Given the description of an element on the screen output the (x, y) to click on. 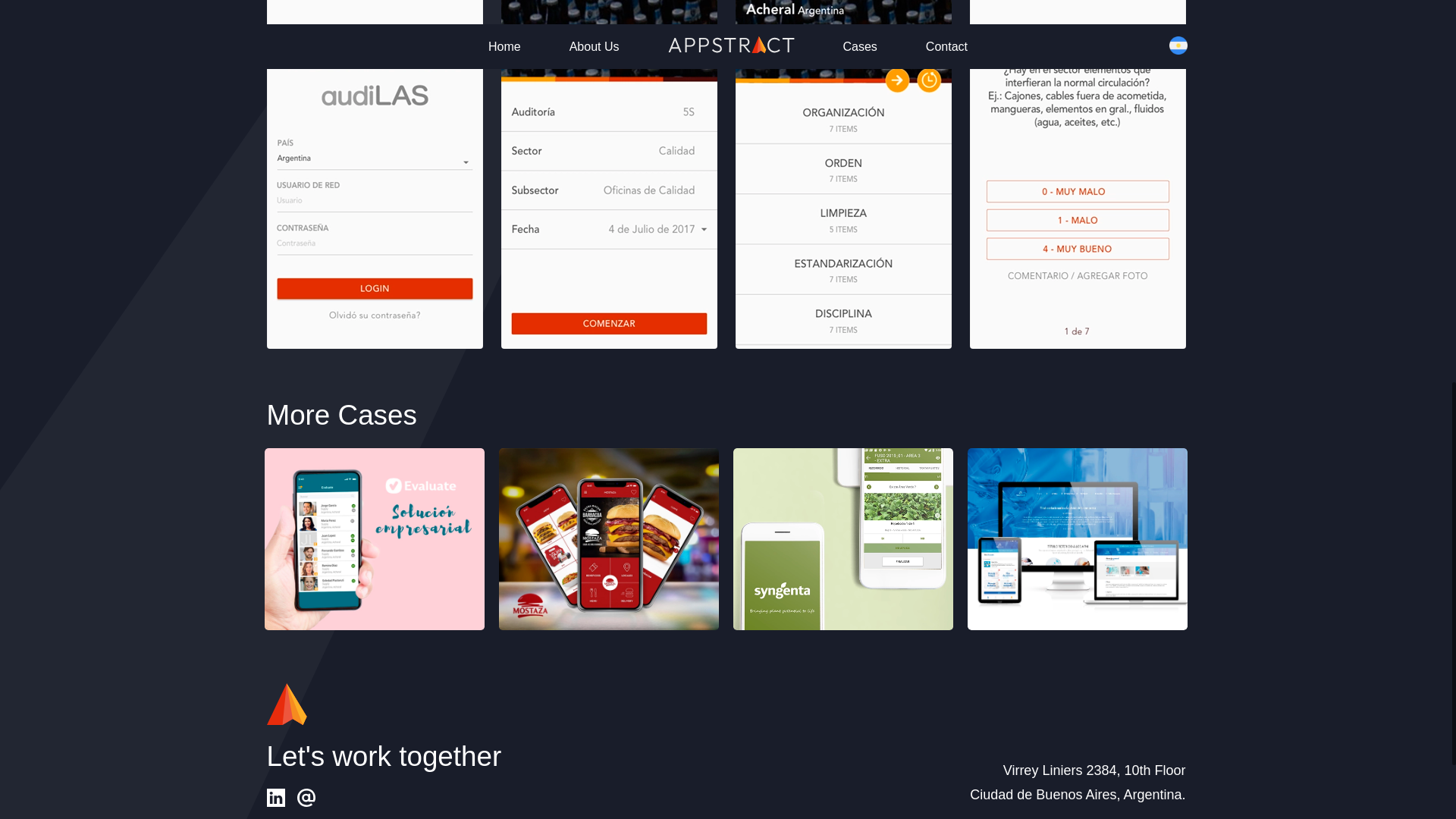
TEMIS LOSTALO (1078, 538)
EVALUATE (374, 538)
SYNGENTA (843, 538)
MOSTAZA (609, 538)
